Given the description of an element on the screen output the (x, y) to click on. 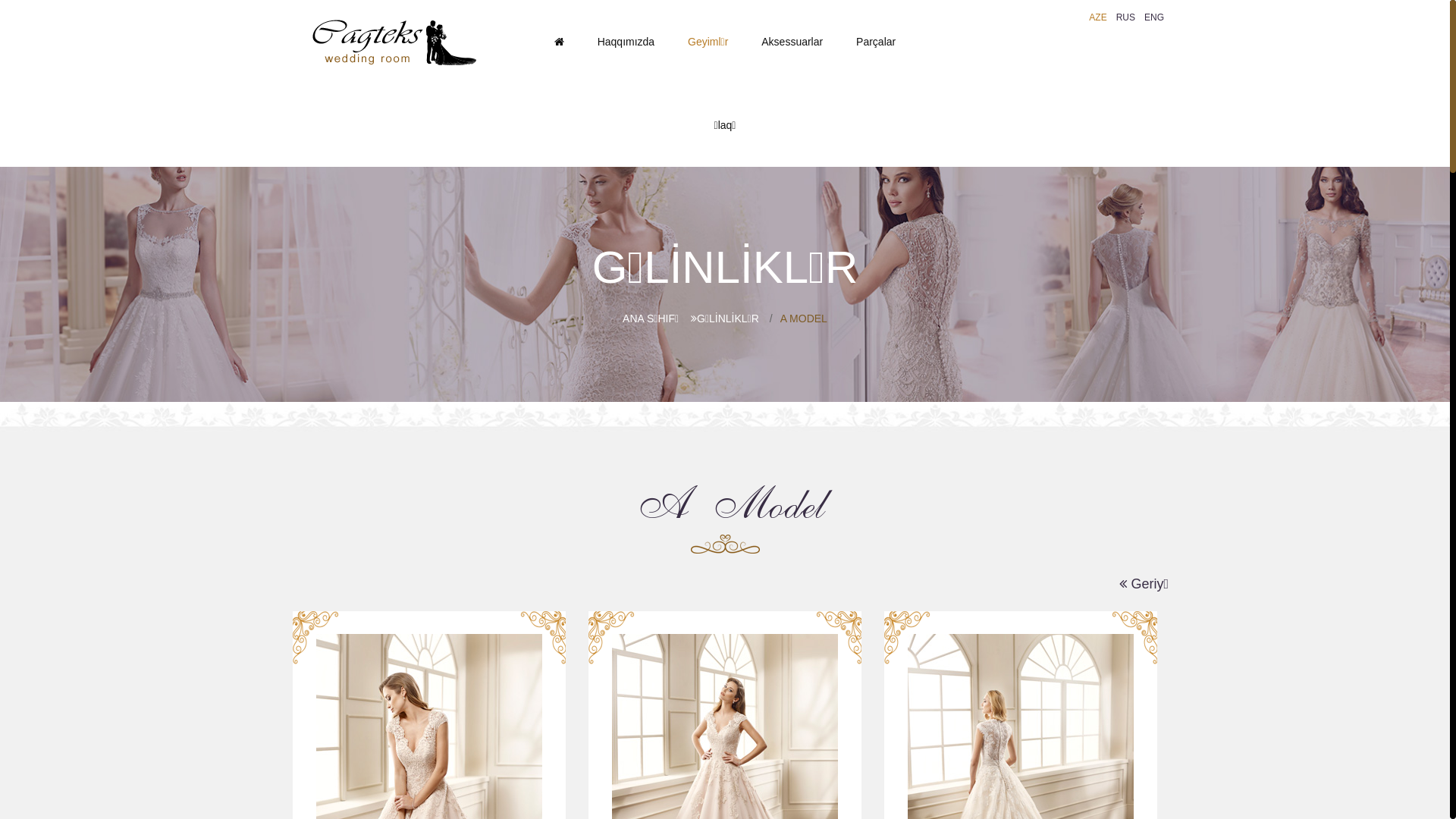
RUS Element type: text (1125, 17)
Aksessuarlar Element type: text (791, 41)
AZE Element type: text (1097, 17)
ENG Element type: text (1153, 17)
